Given the description of an element on the screen output the (x, y) to click on. 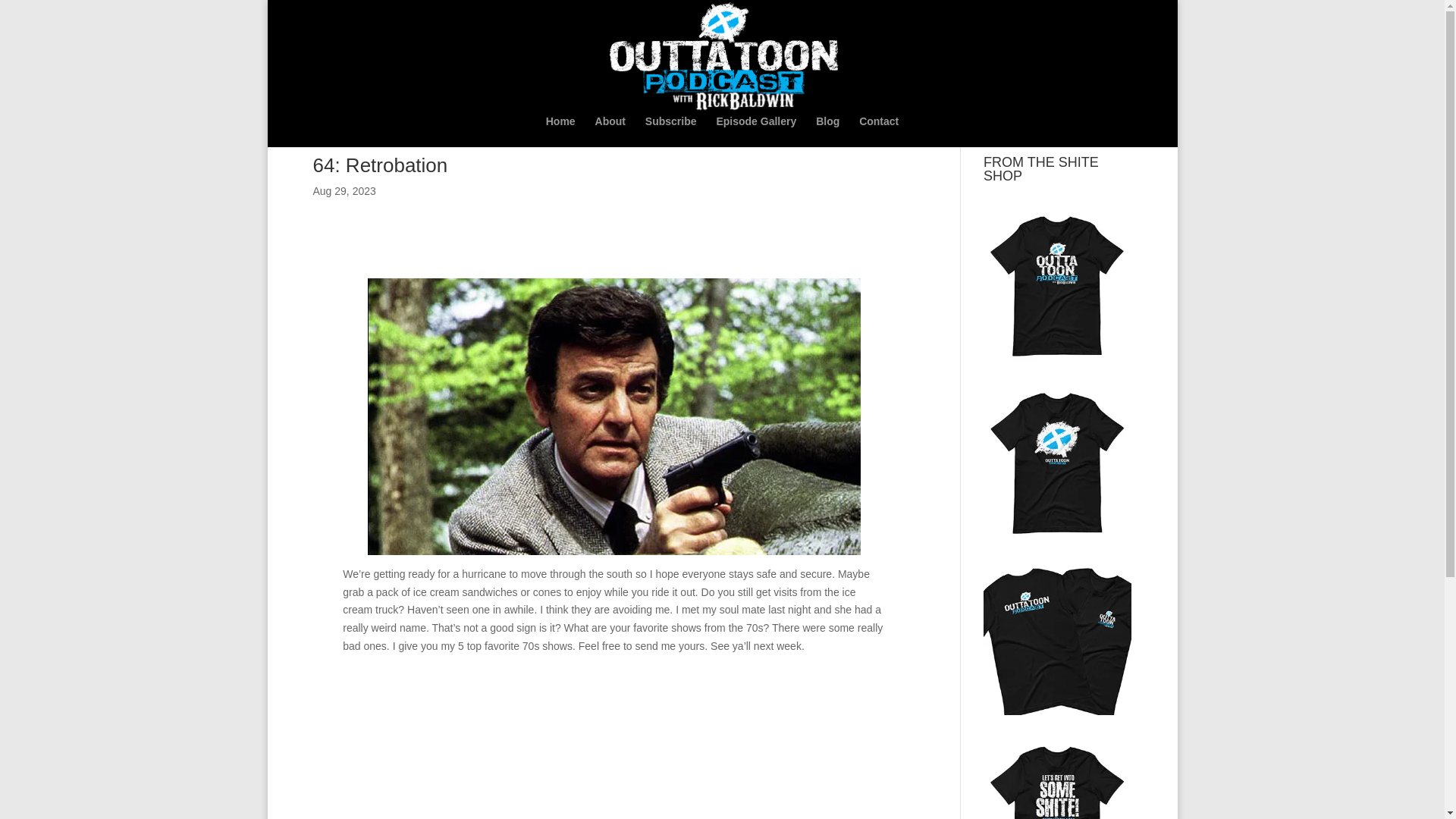
Contact (878, 131)
Home (560, 131)
Episode Gallery (756, 131)
Subscribe (671, 131)
About (610, 131)
64: Retrobation (379, 164)
Embed Player (613, 718)
